Given the description of an element on the screen output the (x, y) to click on. 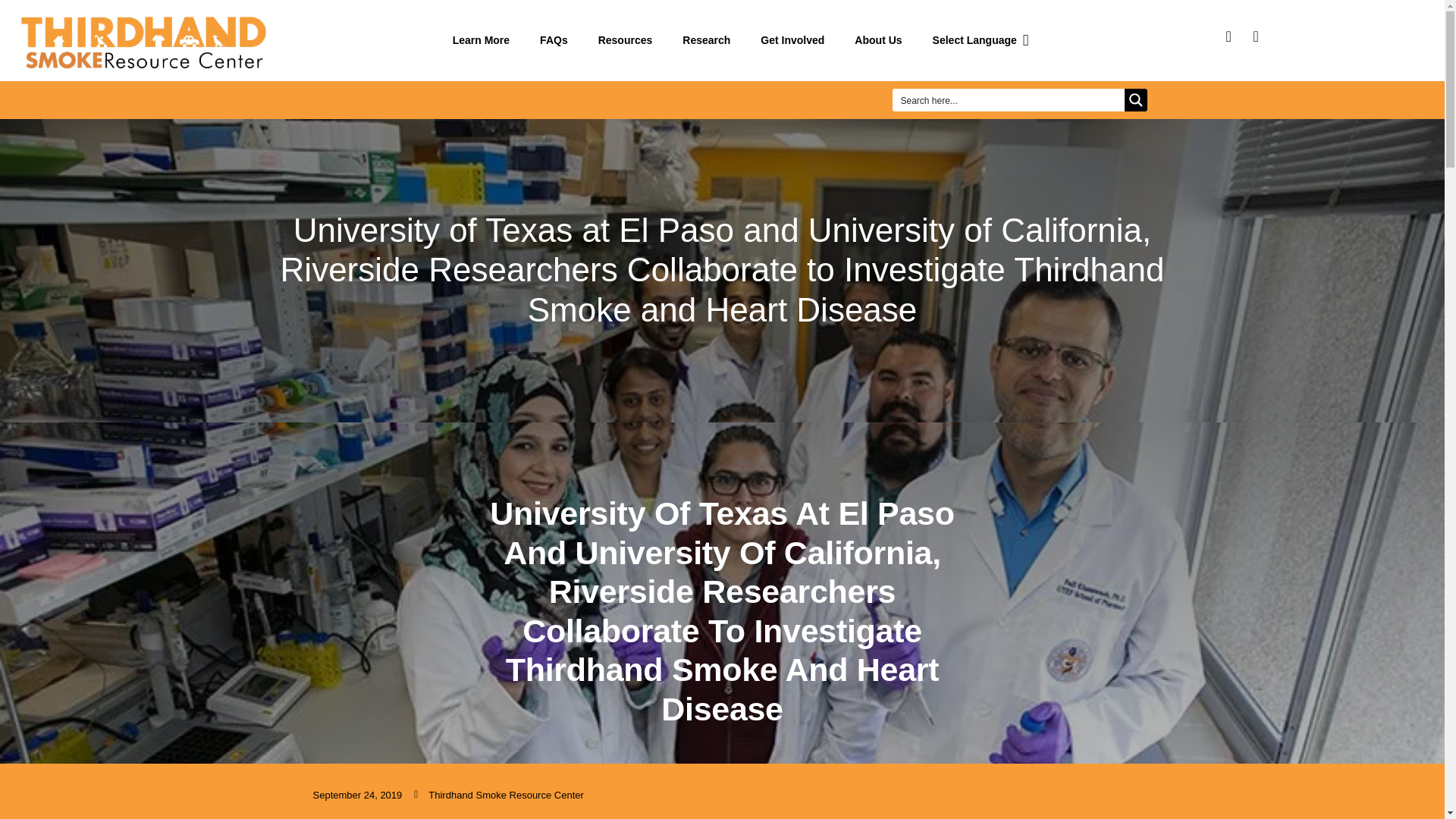
FAQs (553, 40)
About Us (878, 40)
Resources (625, 40)
Learn More (481, 40)
Get Involved (792, 40)
Research (705, 40)
